Given the description of an element on the screen output the (x, y) to click on. 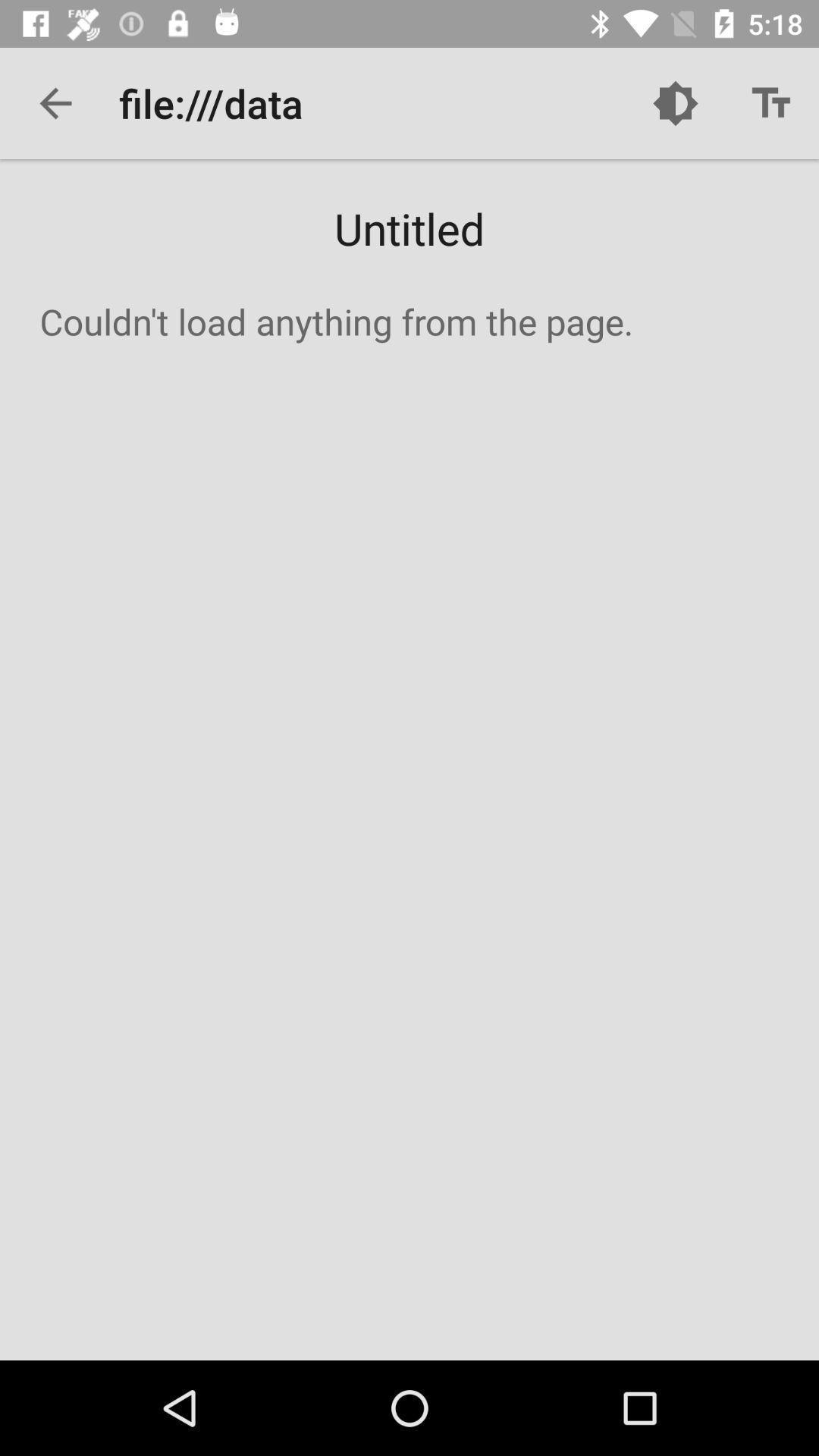
select icon above untitled item (771, 103)
